Given the description of an element on the screen output the (x, y) to click on. 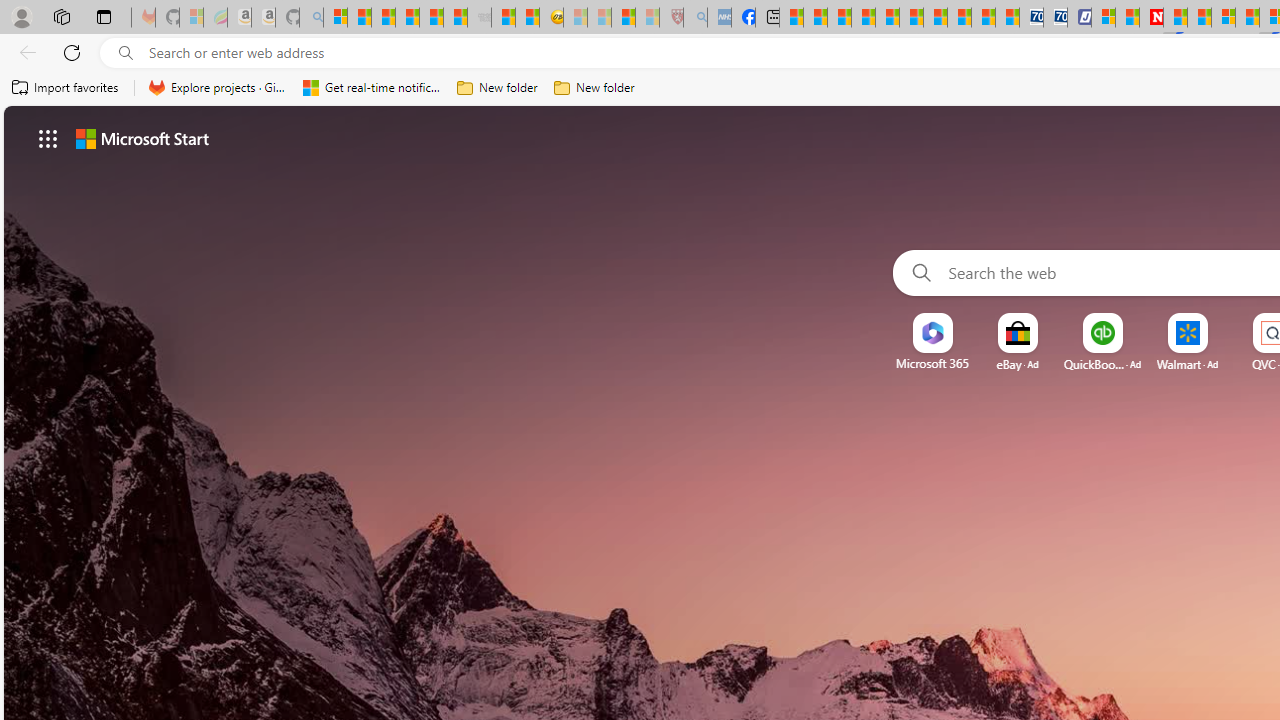
The Weather Channel - MSN (383, 17)
12 Popular Science Lies that Must be Corrected - Sleeping (647, 17)
Microsoft start (142, 138)
Import favorites (65, 88)
